Given the description of an element on the screen output the (x, y) to click on. 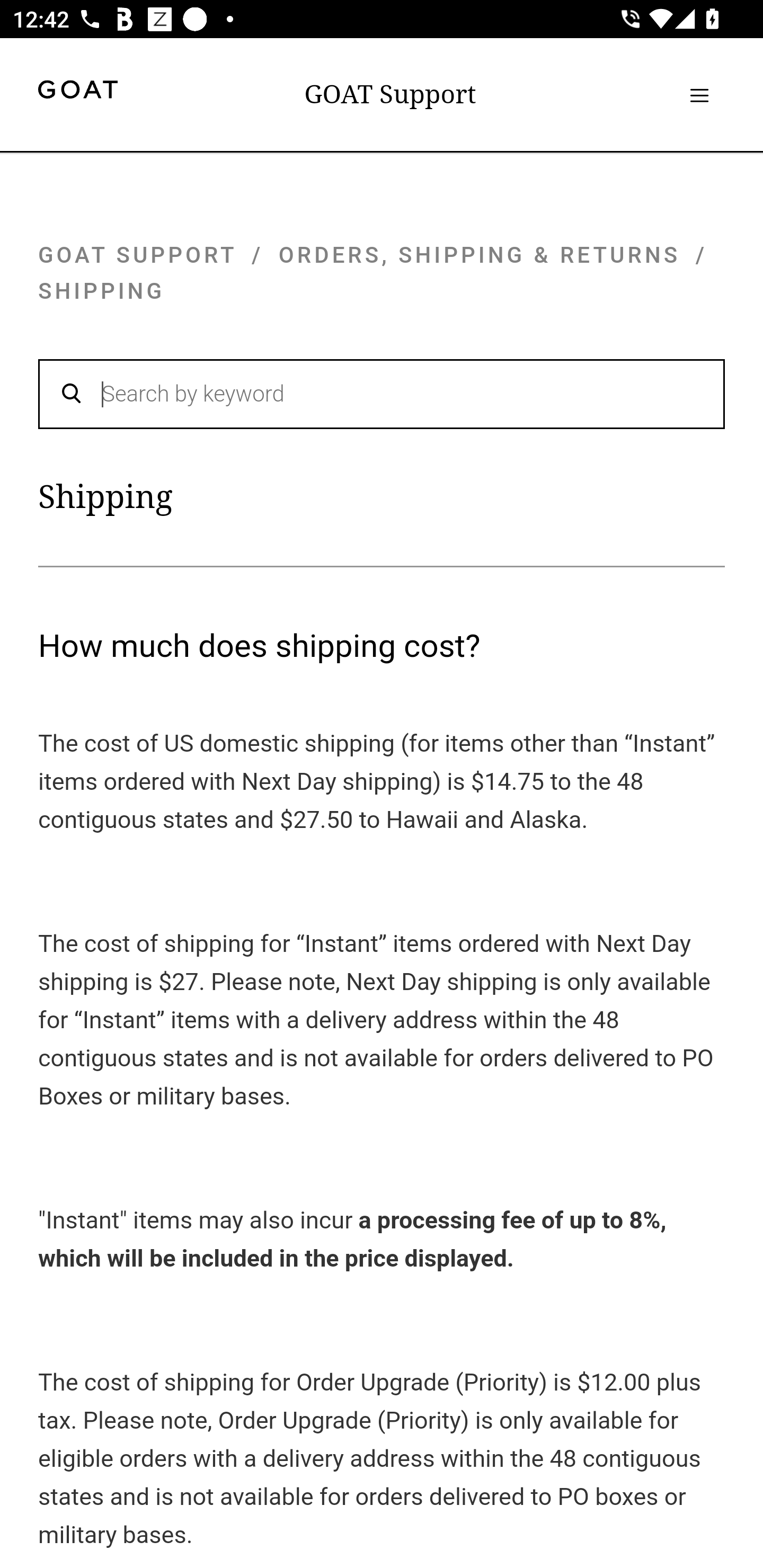
goat header logo (77, 92)
Toggle navigation menu (698, 94)
GOAT Support (389, 94)
GOAT SUPPORT (137, 254)
ORDERS, SHIPPING & RETURNS (480, 254)
SHIPPING (101, 291)
